Given the description of an element on the screen output the (x, y) to click on. 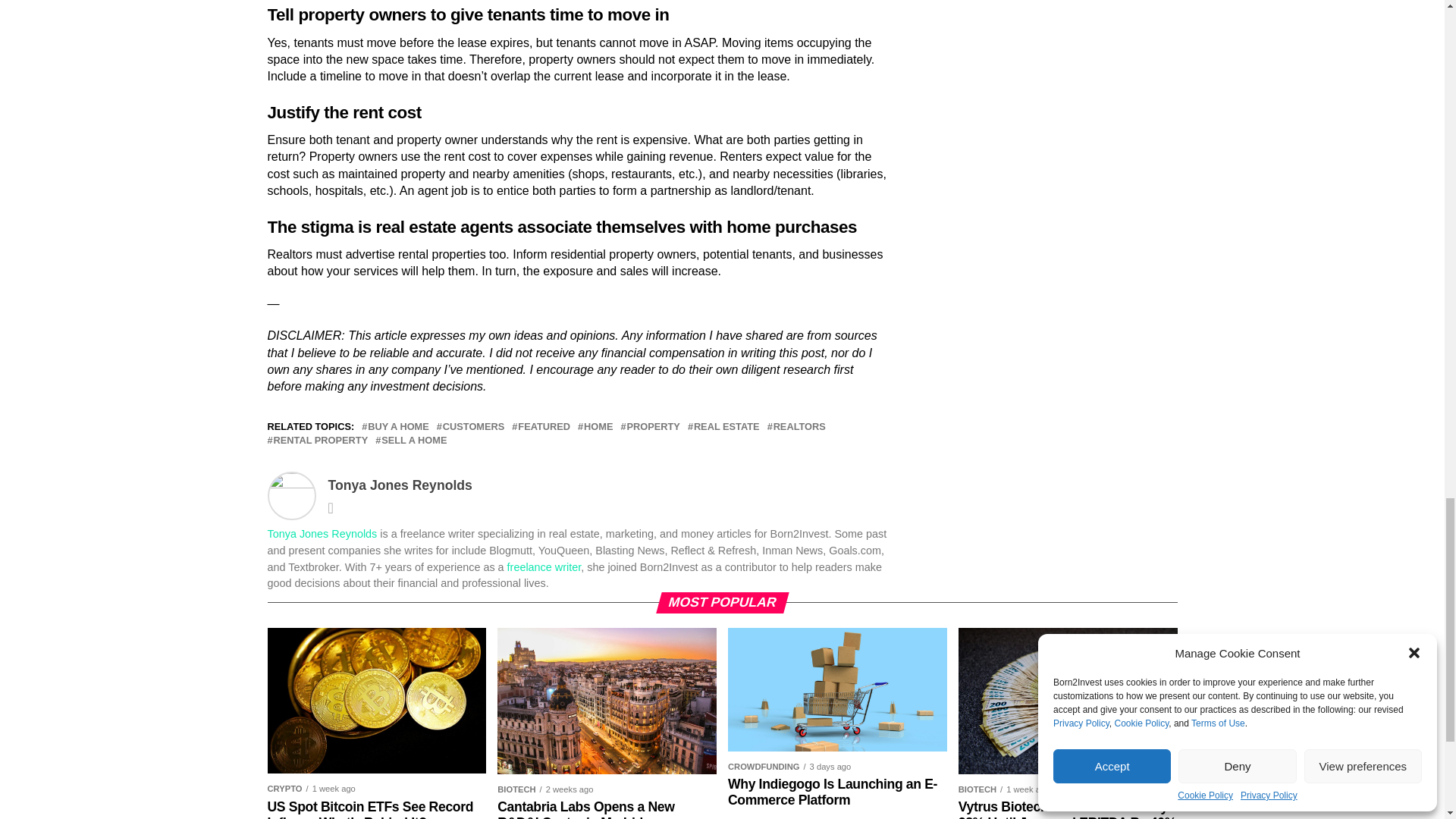
Posts by Tonya Jones Reynolds (399, 485)
